Given the description of an element on the screen output the (x, y) to click on. 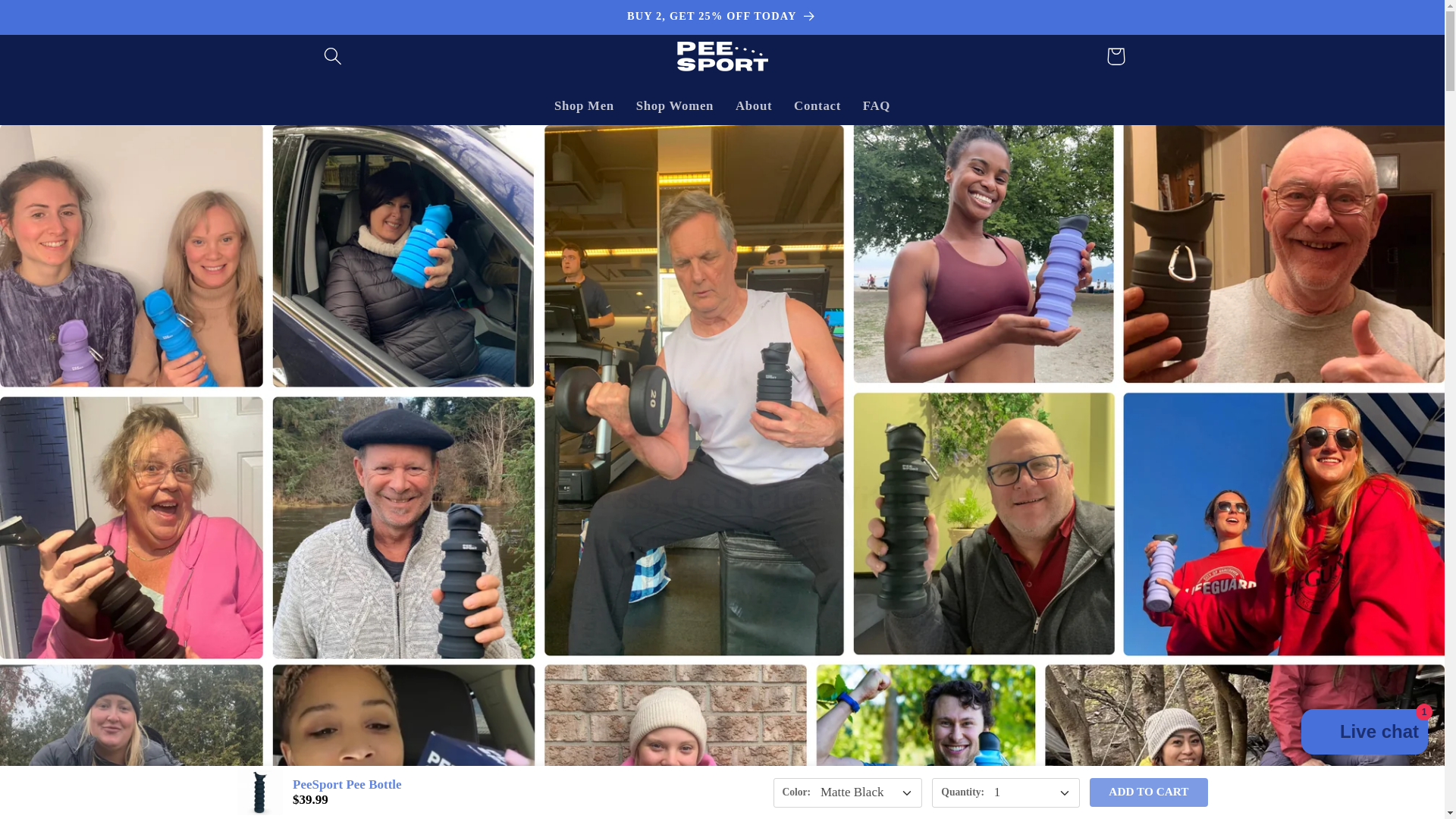
FAQ (876, 105)
Cart (1114, 56)
About (754, 105)
Shop Men (583, 105)
Skip to content (55, 20)
Contact (817, 105)
Shopify online store chat (1364, 733)
Shop Women (673, 105)
